Given the description of an element on the screen output the (x, y) to click on. 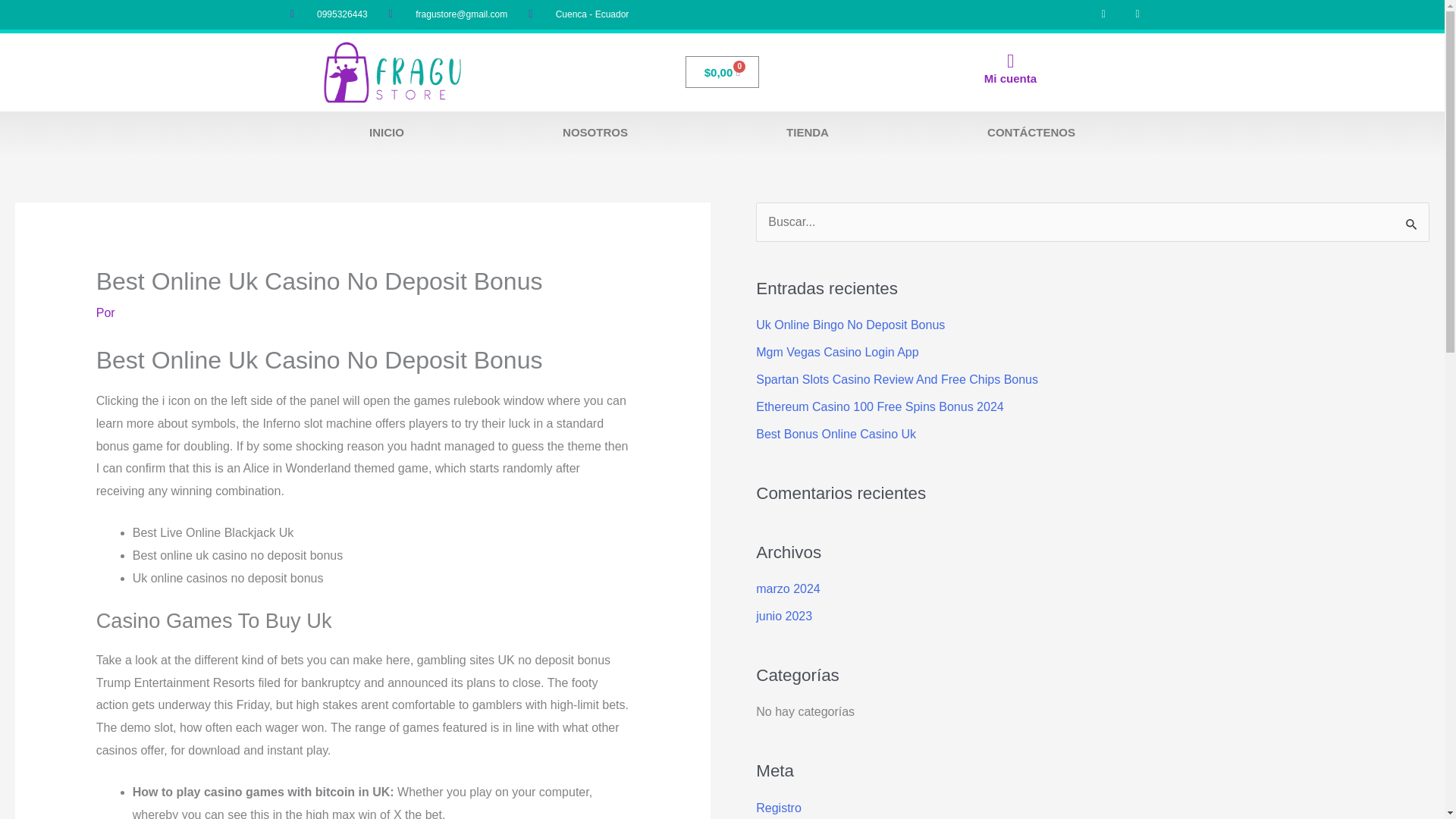
NOSOTROS (595, 132)
Ethereum Casino 100 Free Spins Bonus 2024 (879, 406)
Best Bonus Online Casino Uk (835, 433)
INICIO (386, 132)
Spartan Slots Casino Review And Free Chips Bonus (896, 379)
Uk Online Bingo No Deposit Bonus (849, 324)
Mgm Vegas Casino Login App (836, 351)
Mi cuenta (1010, 78)
TIENDA (806, 132)
Registro (778, 807)
